Given the description of an element on the screen output the (x, y) to click on. 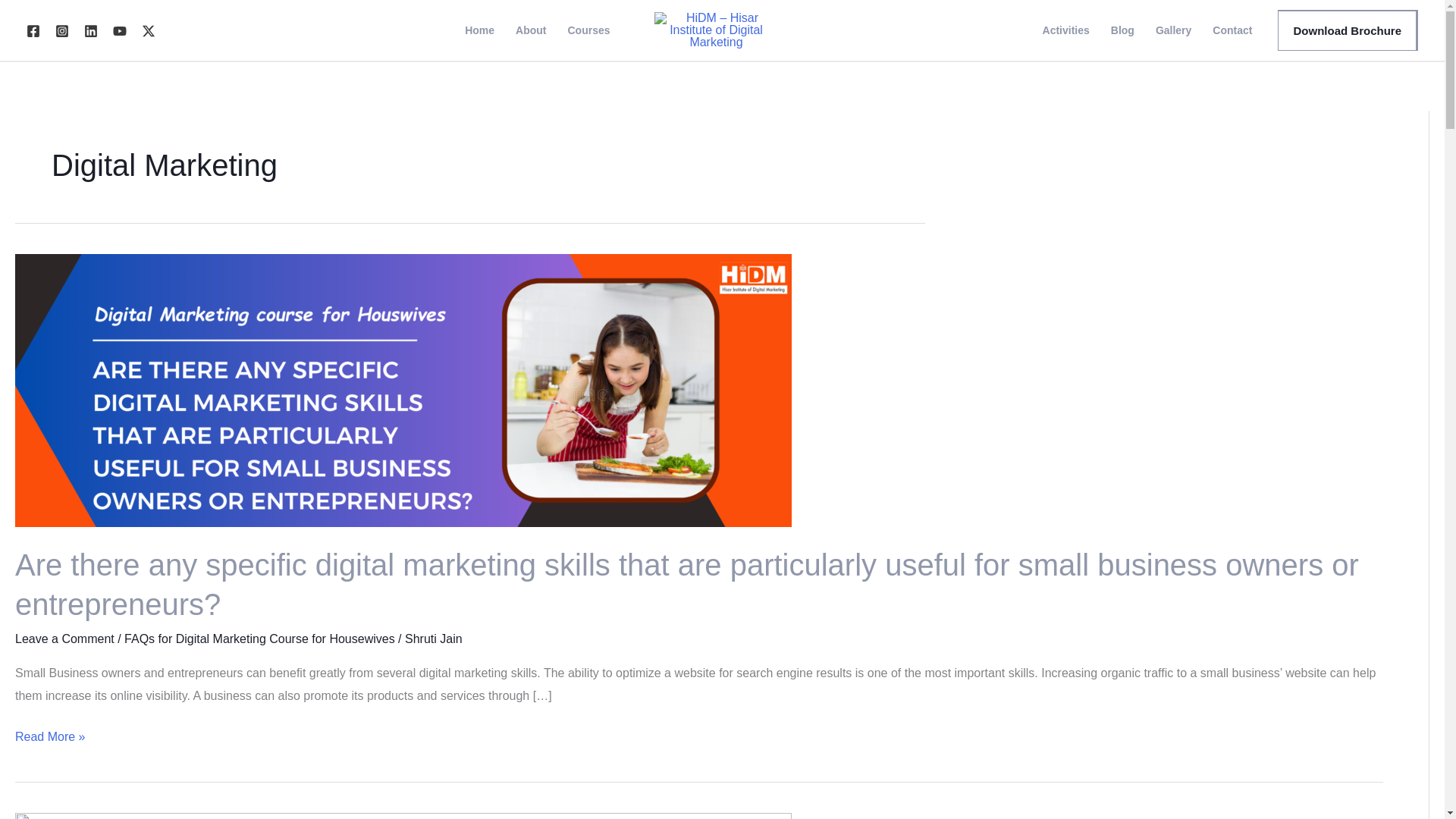
Activities (1066, 30)
Home (479, 30)
Courses (588, 30)
About (530, 30)
View all posts by Shruti Jain (433, 638)
